Given the description of an element on the screen output the (x, y) to click on. 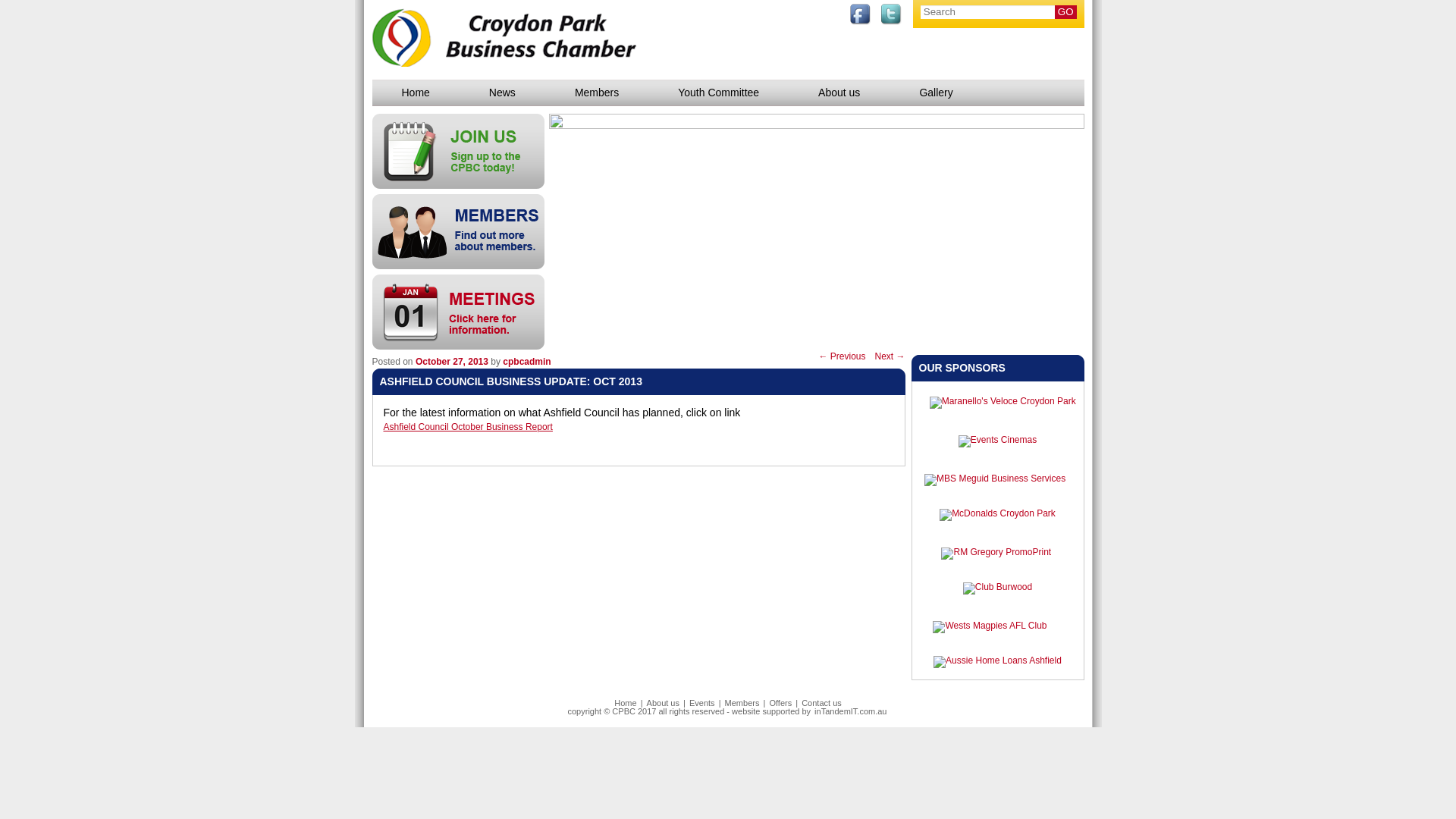
Go Element type: text (1065, 11)
Ashfield Council October Business Report Element type: text (636, 427)
inTandemIT.com.au Element type: text (850, 710)
Twitter Element type: hover (891, 14)
Members Element type: text (741, 702)
Youth Committee Element type: text (718, 92)
News Element type: text (502, 92)
Home Element type: text (625, 702)
October 27, 2013 Element type: text (451, 361)
Home Element type: text (414, 92)
Contact us Element type: text (821, 702)
Members Element type: hover (458, 231)
About us Element type: text (838, 92)
Events Element type: text (702, 702)
Offers Element type: text (779, 702)
Facebook Element type: hover (860, 14)
Members Element type: text (596, 92)
Gallery Element type: text (935, 92)
Meetings Element type: hover (458, 312)
About us Element type: text (662, 702)
cpbcadmin Element type: text (526, 361)
Join us Element type: hover (458, 151)
Croydon Park Business Chamber Element type: hover (504, 34)
